Given the description of an element on the screen output the (x, y) to click on. 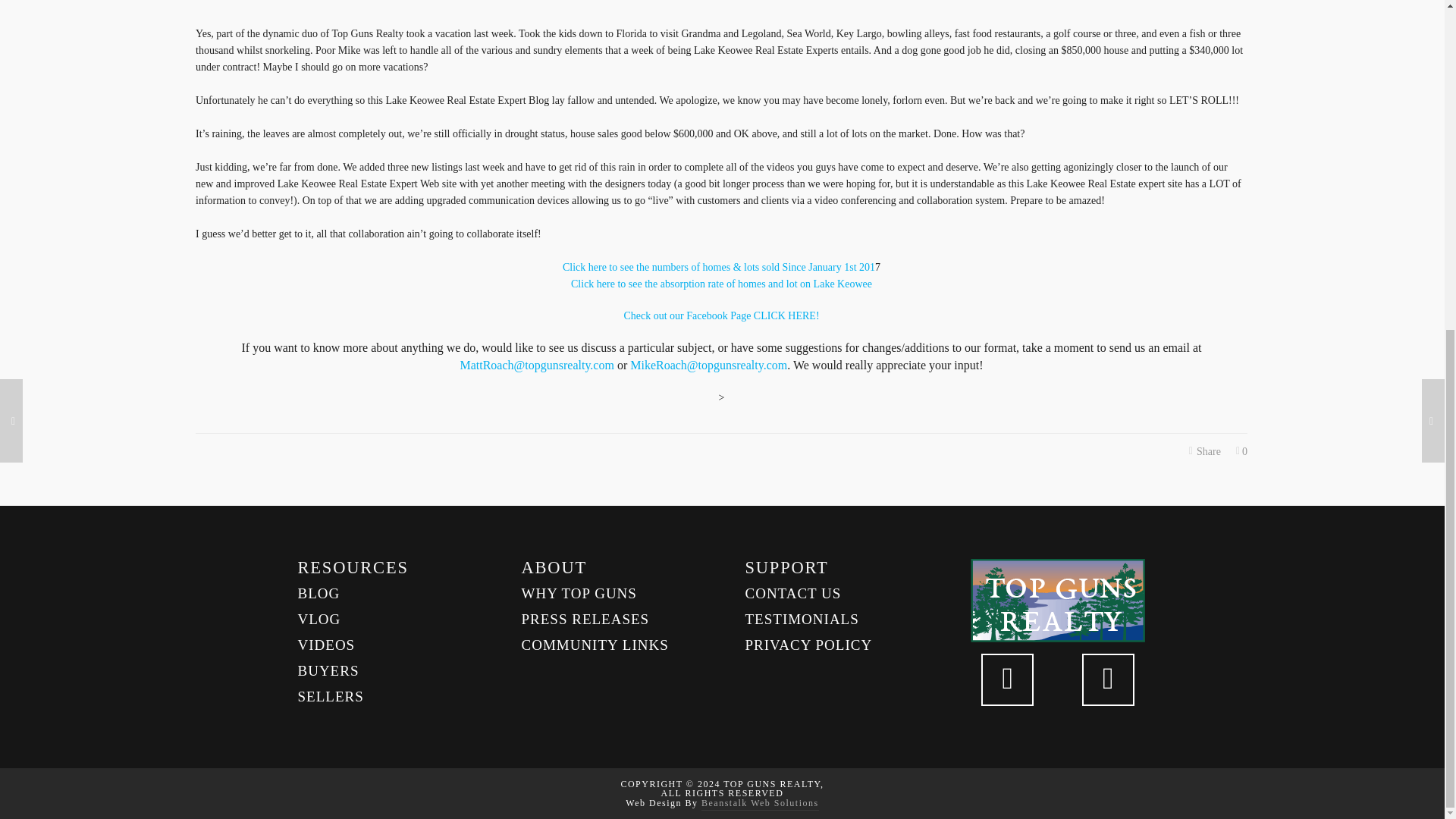
Lake Keowee Real Estate Reserve (720, 315)
Lake Keowee Real Estate Expert Numbers (718, 266)
Lake Keowee Real Estate Expert Numbers (721, 283)
